Given the description of an element on the screen output the (x, y) to click on. 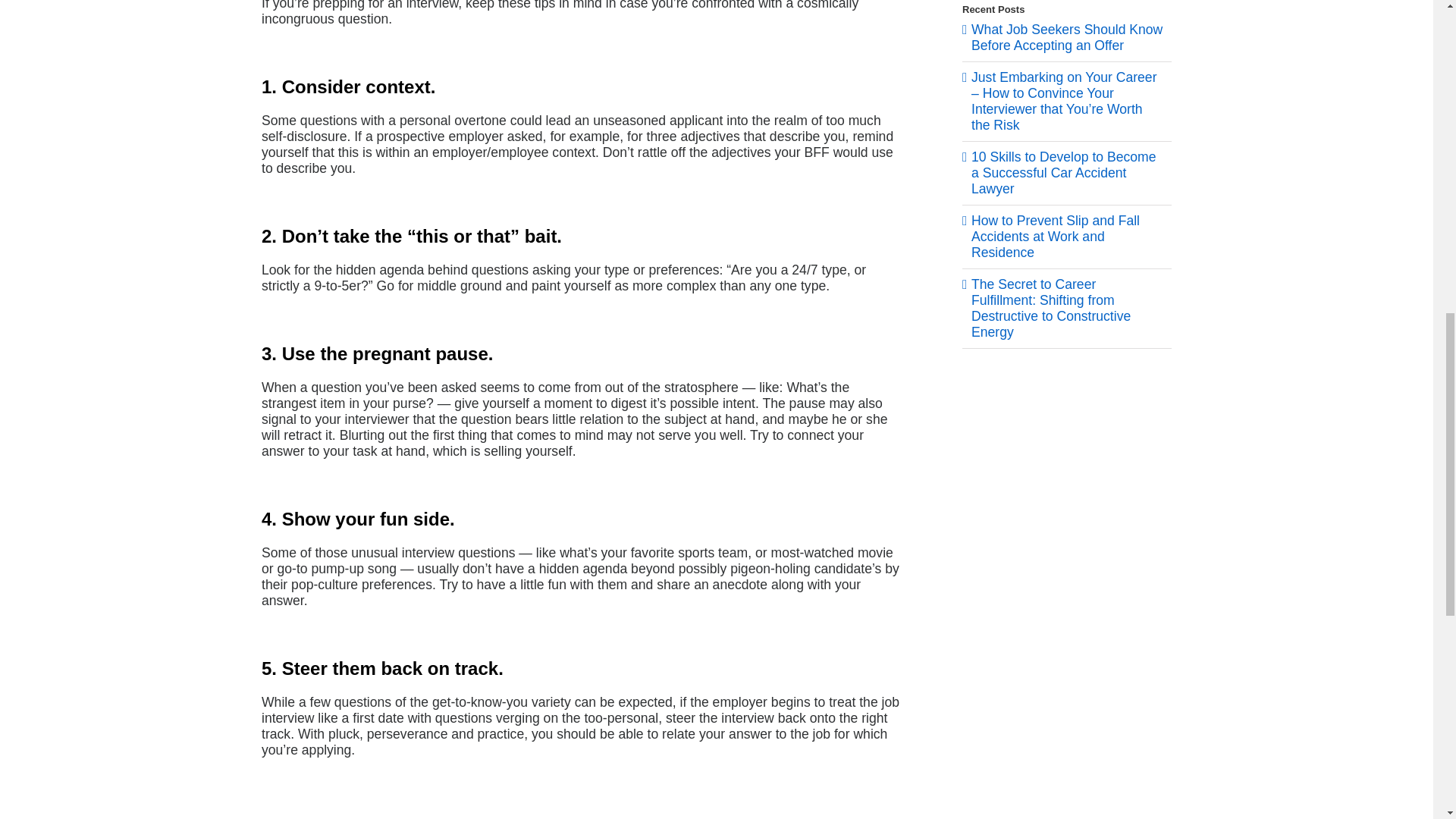
What Job Seekers Should Know Before Accepting an Offer (1066, 37)
How to Prevent Slip and Fall Accidents at Work and Residence (1055, 236)
